Given the description of an element on the screen output the (x, y) to click on. 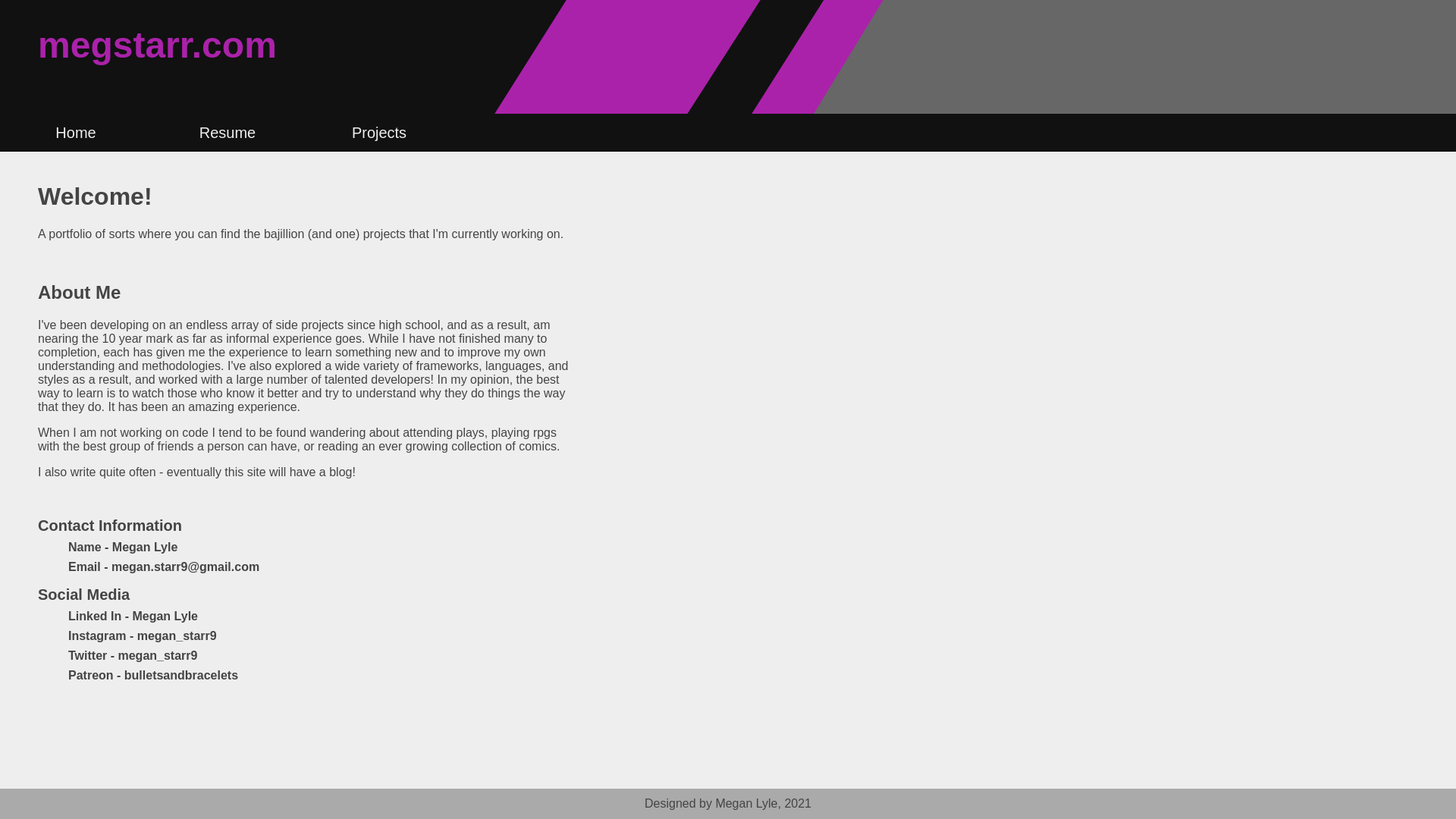
Home (75, 132)
bulletsandbracelets (180, 675)
Megan Lyle (165, 615)
Resume (226, 132)
Projects (378, 132)
